Given the description of an element on the screen output the (x, y) to click on. 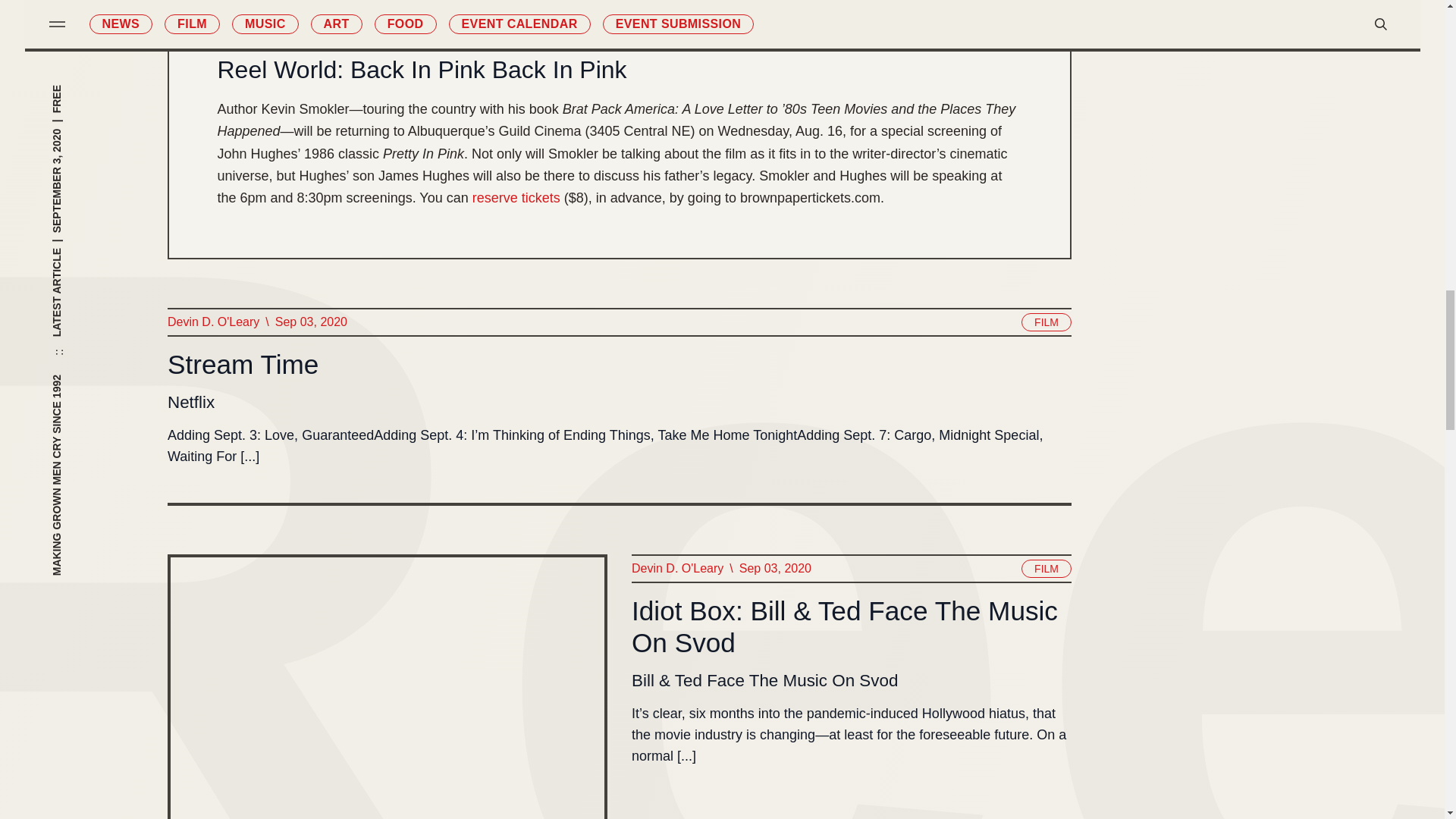
reserve tickets (515, 198)
Devin D. O'Leary (213, 322)
Devin D. O'Leary (676, 568)
FILM (1046, 321)
complete schedule of films and times (627, 7)
